Given the description of an element on the screen output the (x, y) to click on. 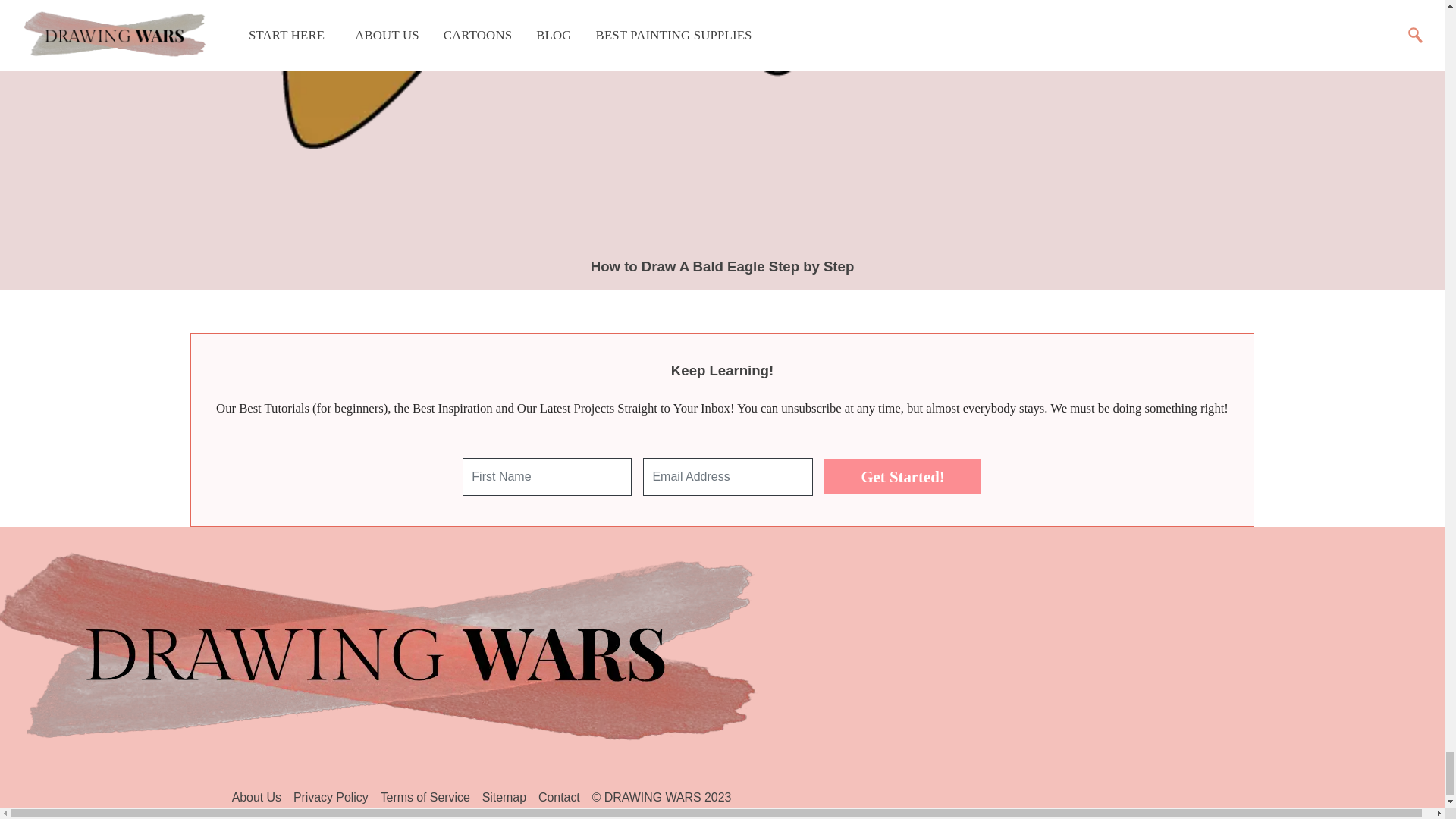
Sitemap (504, 797)
Terms of Service (425, 797)
Contact (559, 797)
Privacy Policy (330, 797)
How to Draw A Bald Eagle Step by Step (722, 266)
About Us (255, 797)
Get Started! (901, 476)
